Given the description of an element on the screen output the (x, y) to click on. 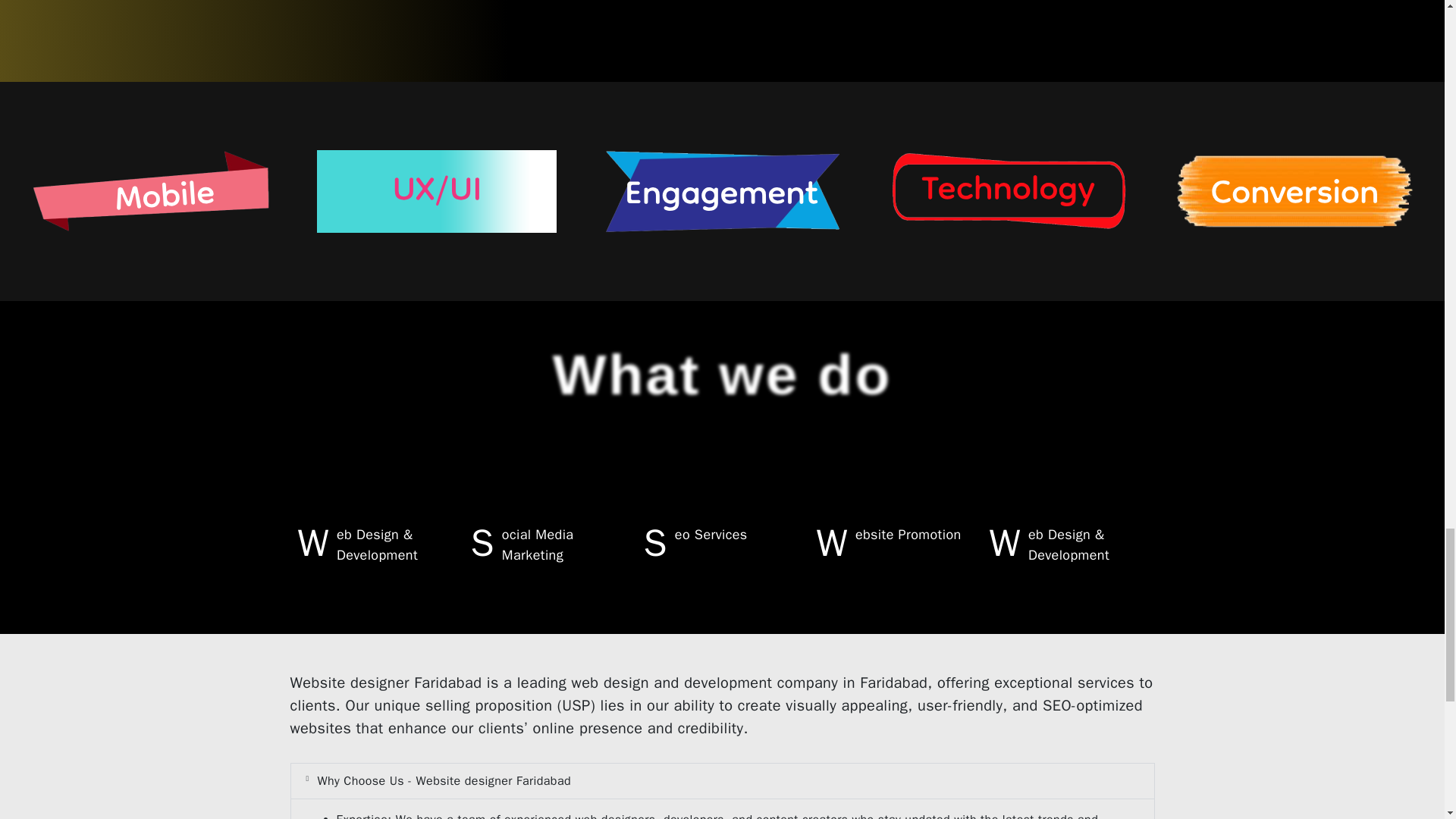
Why Choose Us - Website designer Faridabad (443, 780)
